Given the description of an element on the screen output the (x, y) to click on. 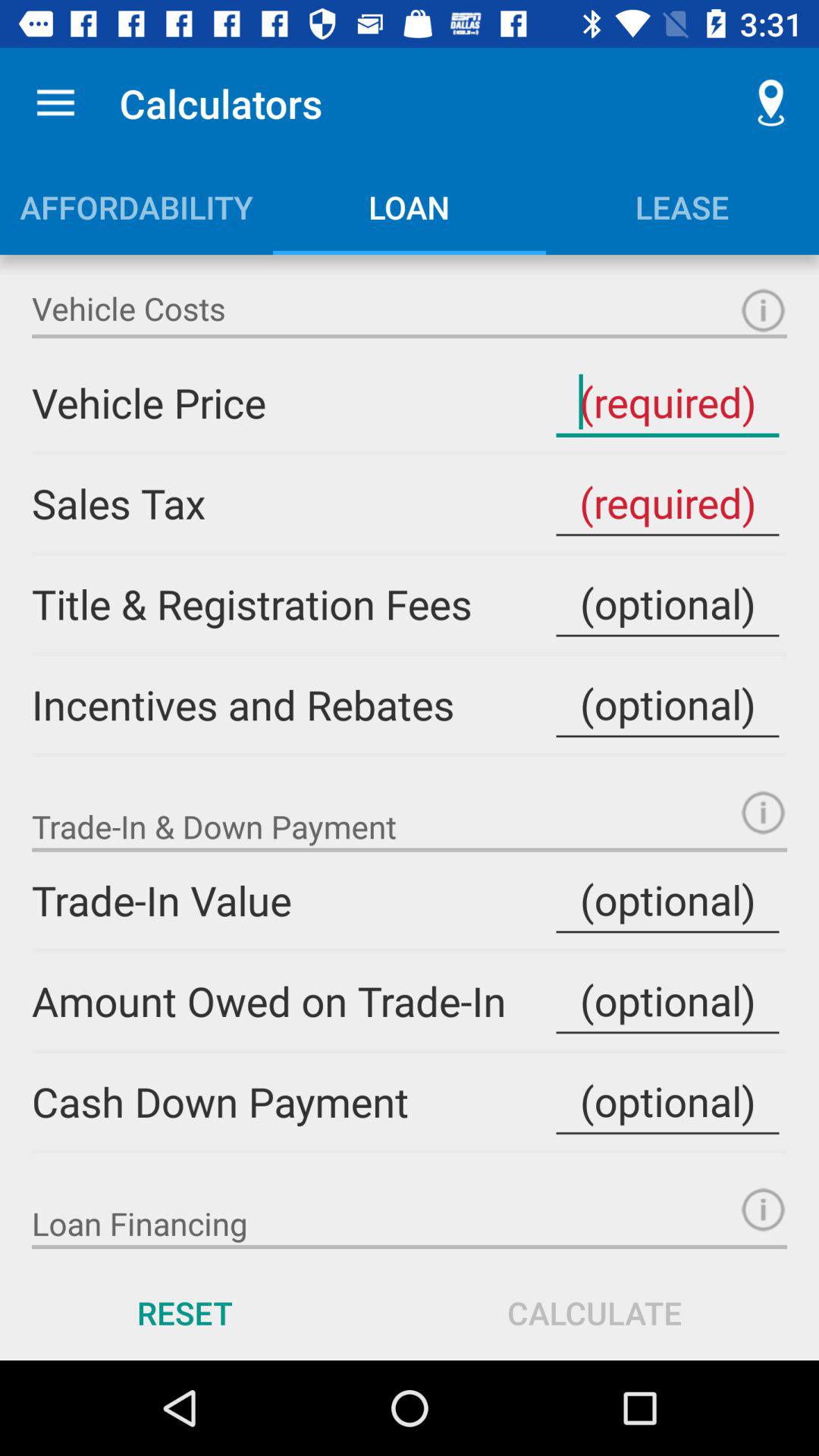
more information about trade-in down payment (763, 812)
